Given the description of an element on the screen output the (x, y) to click on. 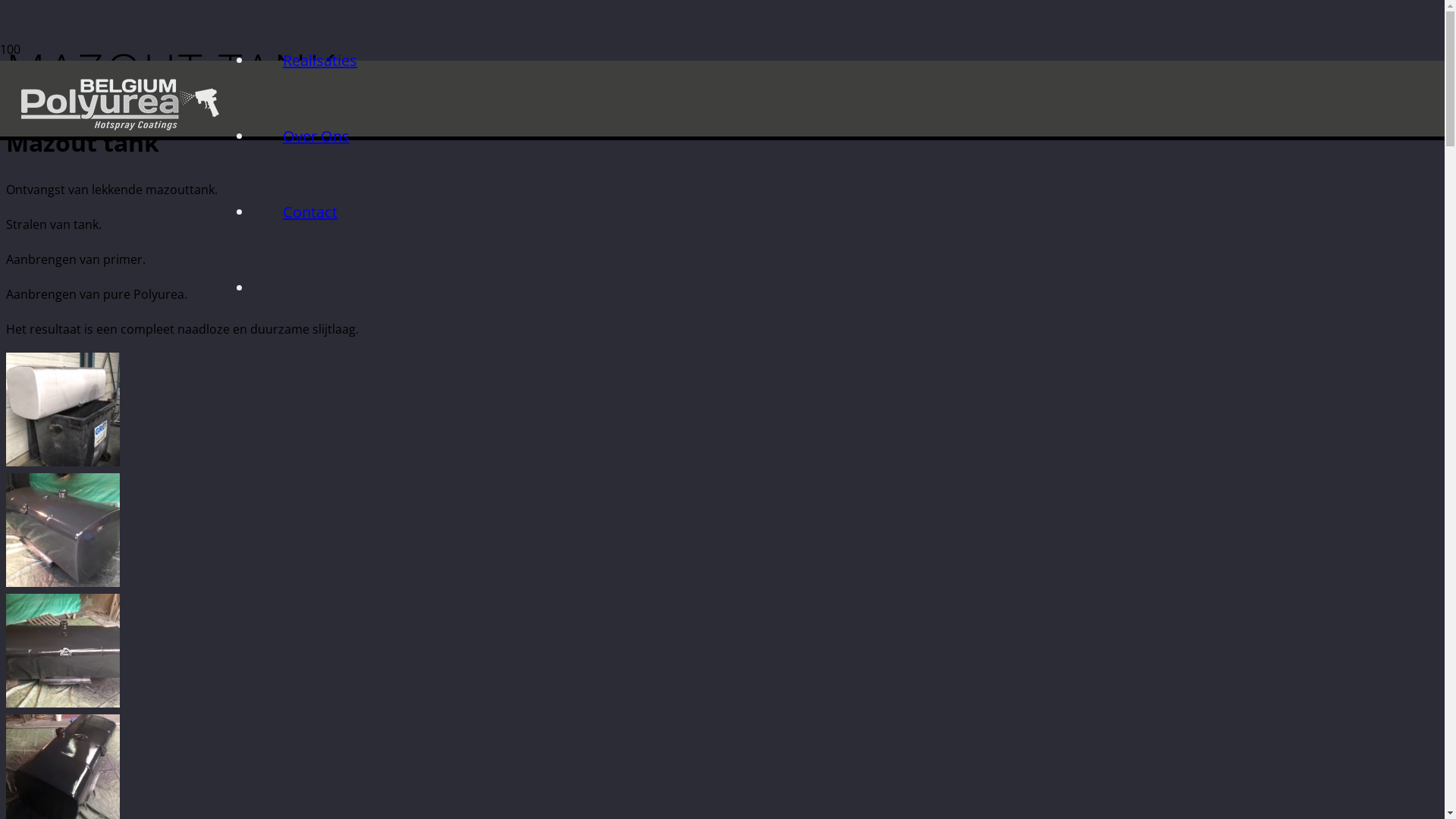
Realisaties Element type: text (319, 60)
Contact Element type: text (309, 211)
Over Ons Element type: text (315, 135)
